Given the description of an element on the screen output the (x, y) to click on. 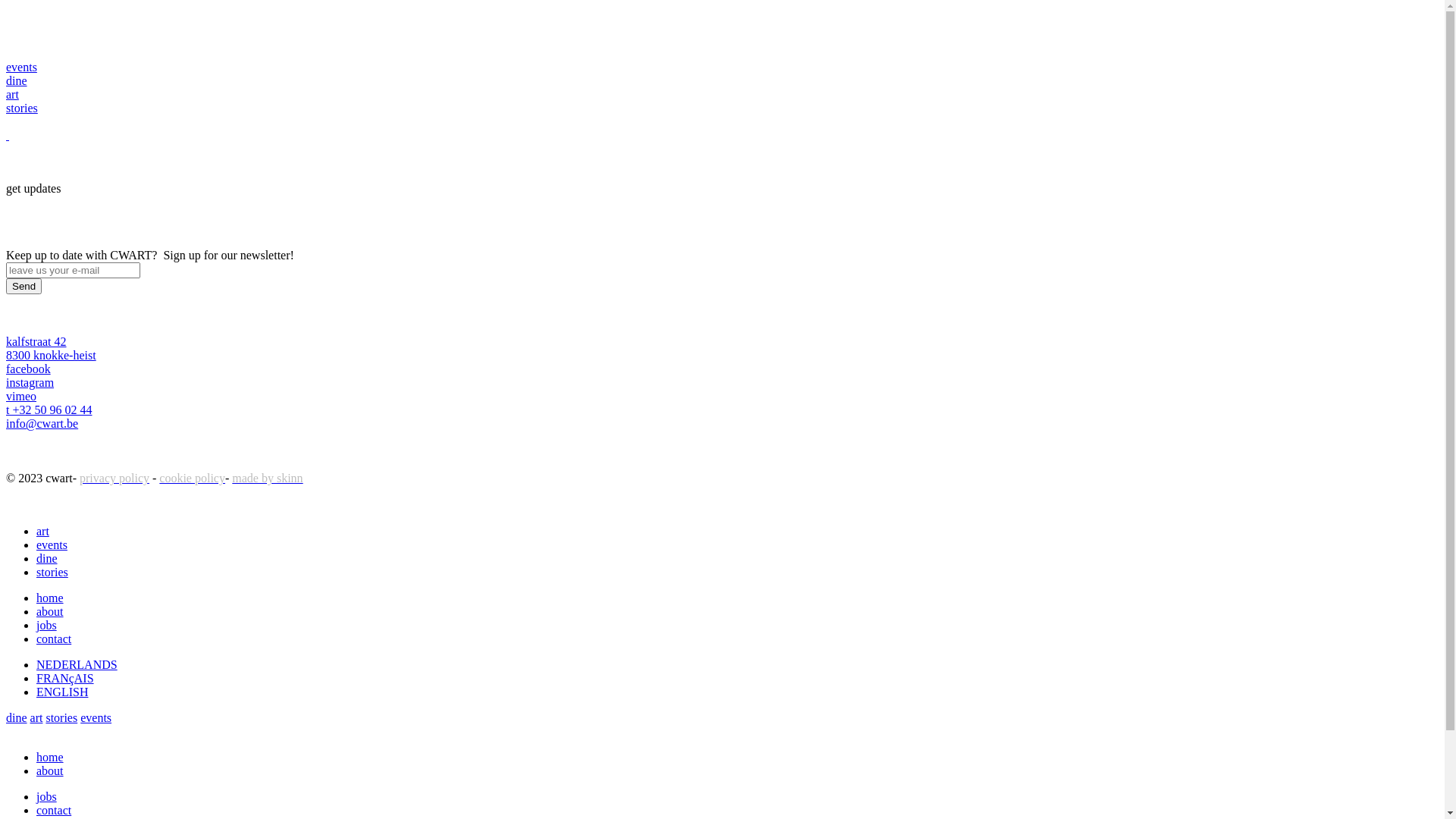
jobs Element type: text (46, 624)
instagram Element type: text (29, 382)
dine Element type: text (16, 80)
stories Element type: text (21, 107)
stories Element type: text (52, 571)
contact Element type: text (53, 809)
Send Element type: text (23, 286)
home Element type: text (49, 756)
jobs Element type: text (46, 796)
stories Element type: text (61, 717)
about Element type: text (49, 770)
art Element type: text (12, 93)
dine Element type: text (16, 717)
privacy policy Element type: text (114, 477)
cookie policy Element type: text (192, 477)
events Element type: text (21, 66)
facebook Element type: text (28, 368)
contact Element type: text (53, 638)
events Element type: text (95, 717)
NEDERLANDS Element type: text (76, 664)
info@cwart.be Element type: text (42, 423)
dine Element type: text (46, 558)
kalfstraat 42
8300 knokke-heist Element type: text (51, 348)
about Element type: text (49, 611)
  Element type: text (7, 134)
events Element type: text (51, 544)
made by skinn Element type: text (267, 477)
art Element type: text (36, 717)
home Element type: text (49, 597)
vimeo Element type: text (21, 395)
ENGLISH Element type: text (61, 691)
t +32 50 96 02 44 Element type: text (48, 409)
art Element type: text (42, 530)
